Given the description of an element on the screen output the (x, y) to click on. 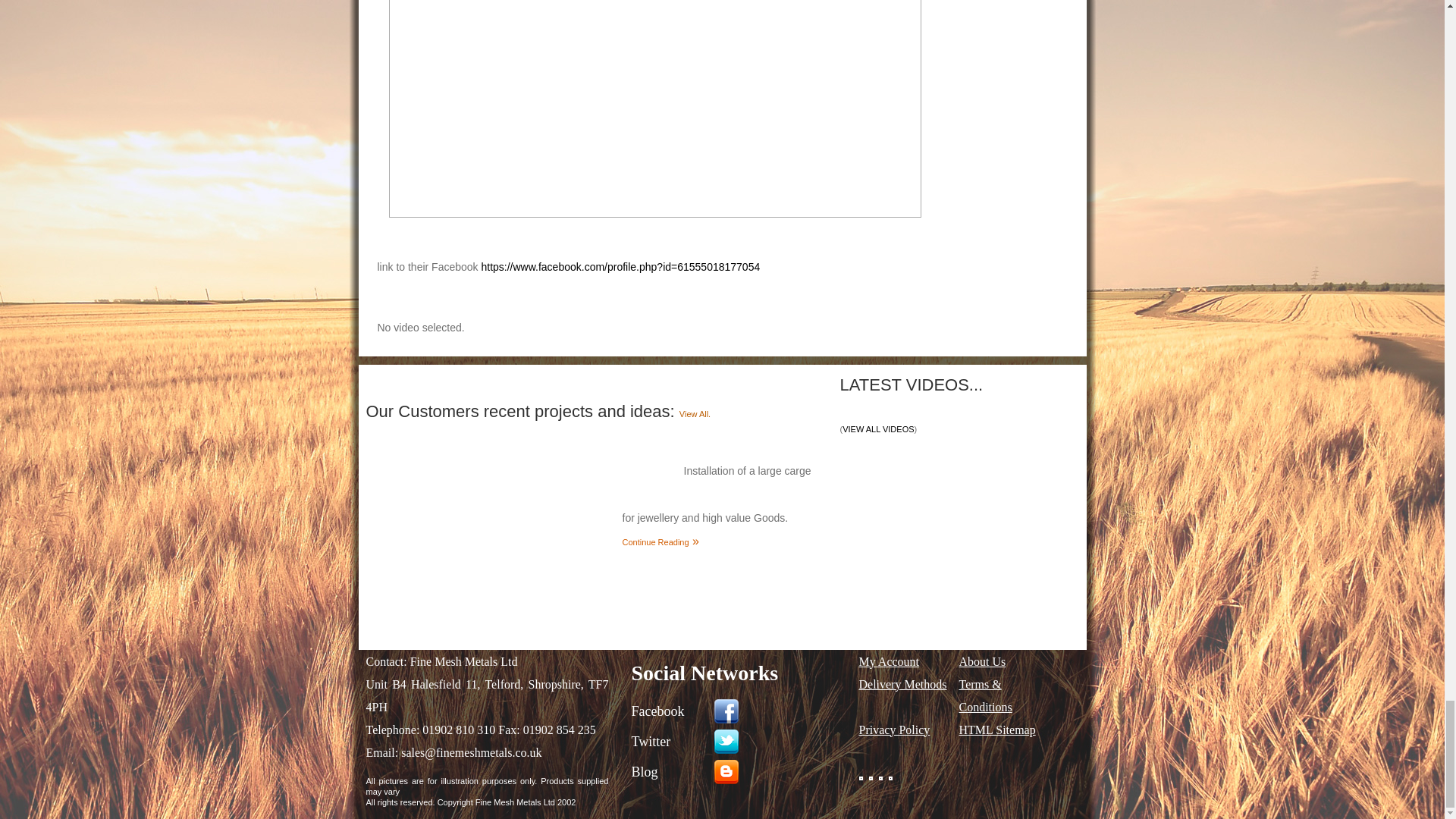
Facebook (736, 711)
Twitter (736, 741)
Jewellery centre cage (489, 511)
Blog (736, 771)
Jewellery centre cage (489, 509)
